Given the description of an element on the screen output the (x, y) to click on. 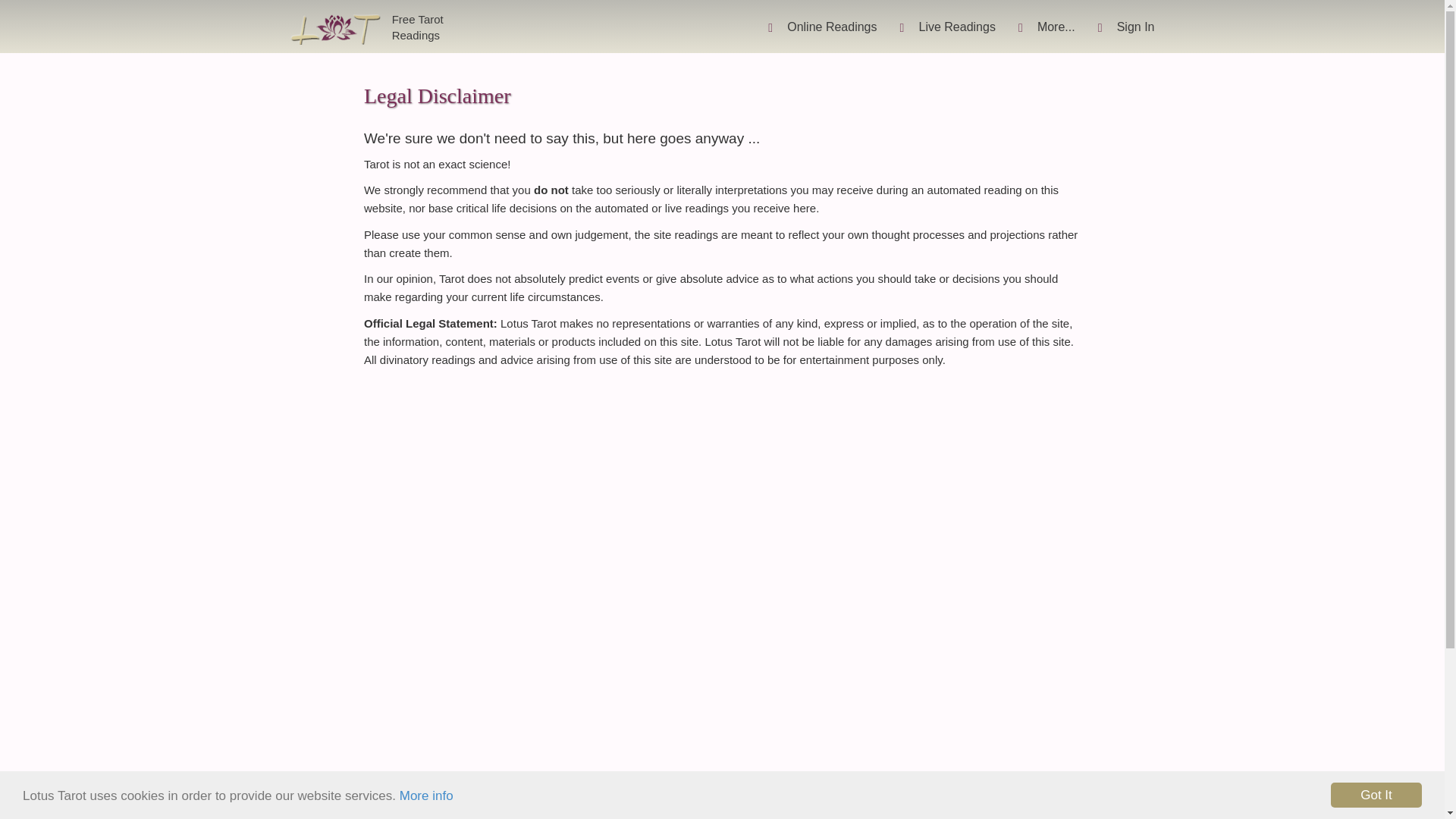
Sign In (1126, 26)
Live Readings (947, 26)
Online Tarot Readings (366, 26)
Online Readings (822, 26)
Show everything on Lotus Tarot (822, 26)
Live Readings (1046, 26)
More... (947, 26)
